Given the description of an element on the screen output the (x, y) to click on. 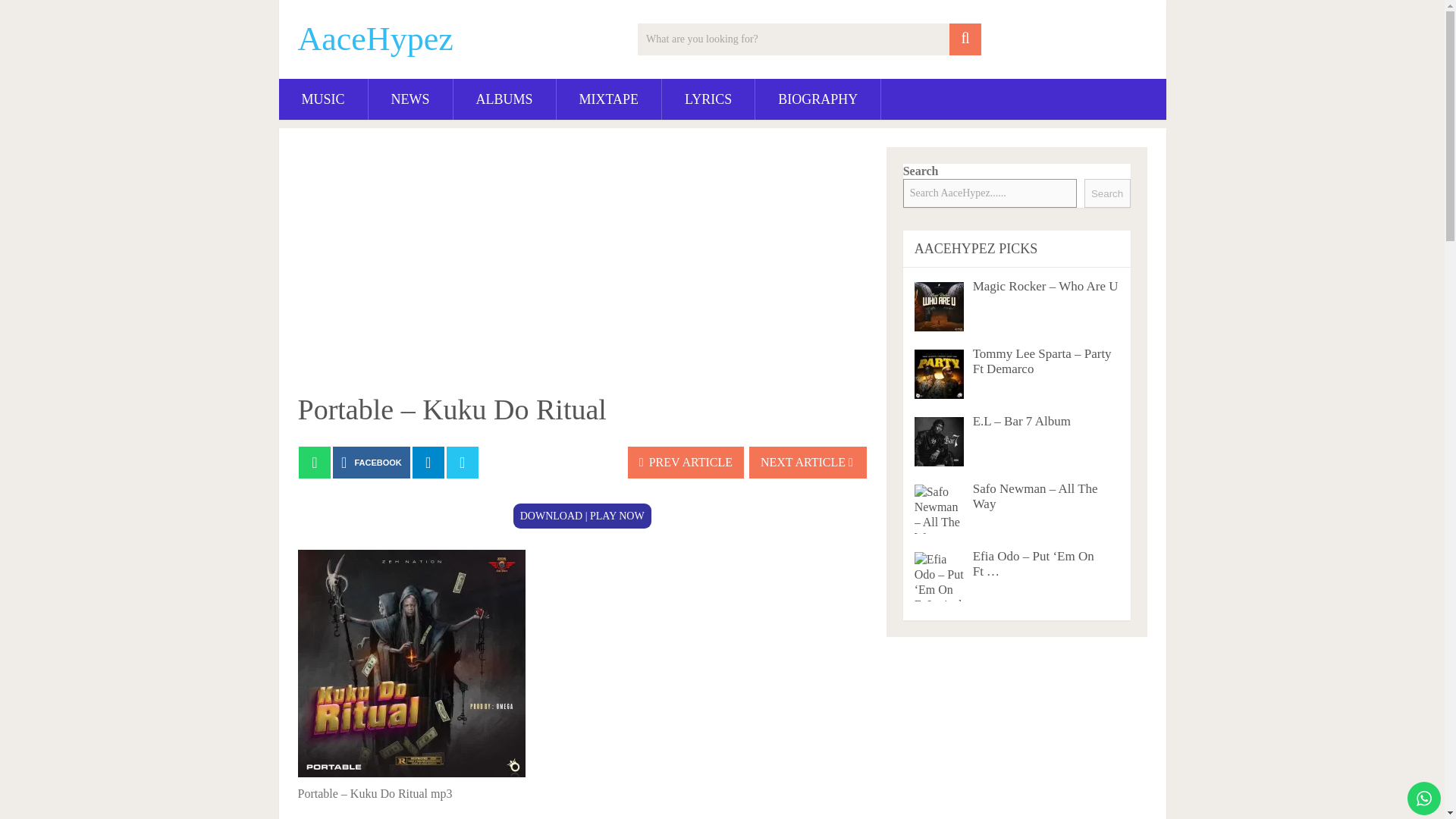
MIXTAPE (609, 98)
BIOGRAPHY (817, 98)
NEXT ARTICLE (807, 462)
NEWS (410, 98)
MUSIC (323, 98)
LYRICS (708, 98)
ALBUMS (504, 98)
AaceHypez (374, 39)
Advertisement (582, 268)
FACEBOOK (371, 462)
PREV ARTICLE (685, 462)
